Given the description of an element on the screen output the (x, y) to click on. 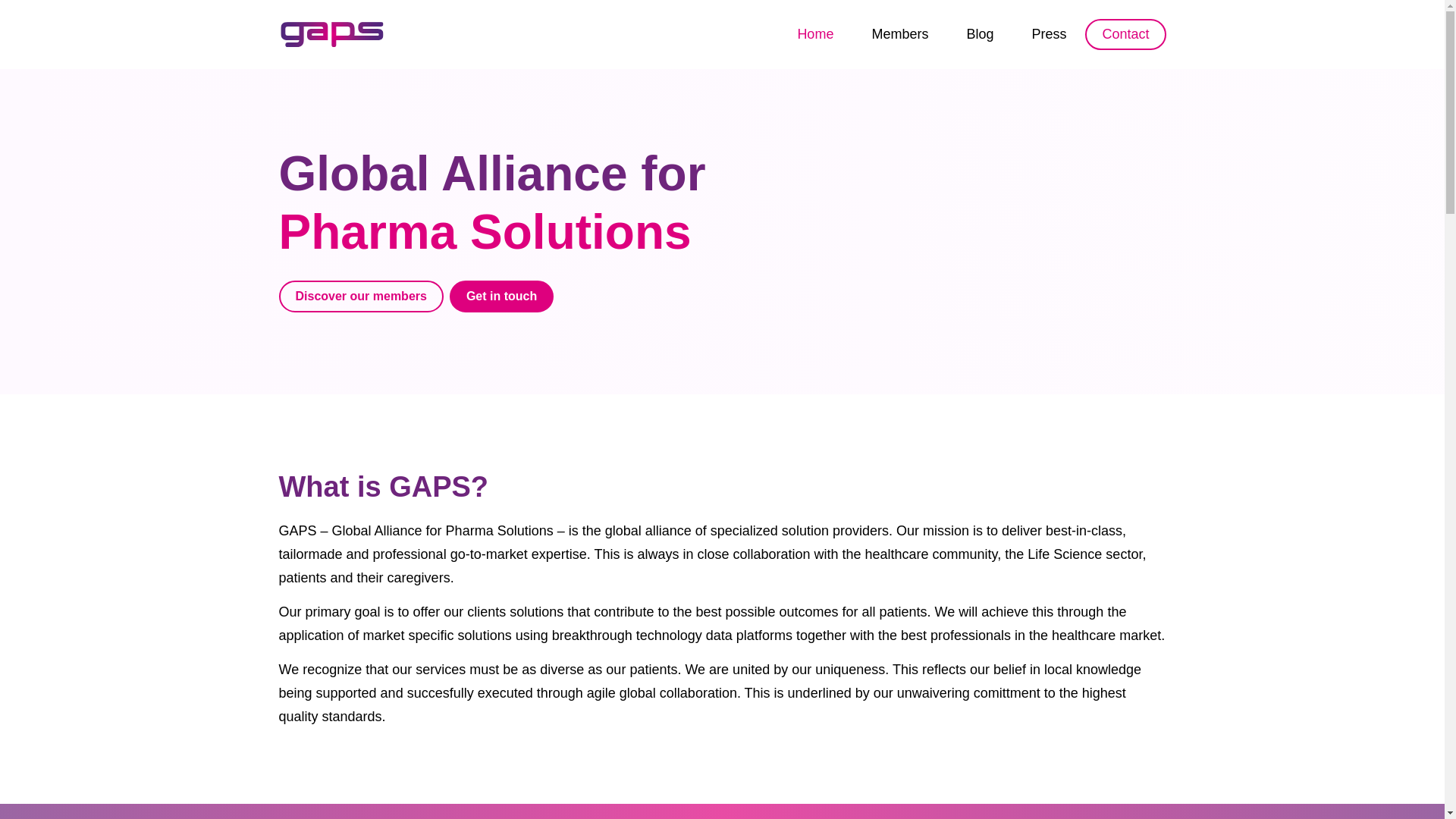
GAPS (332, 34)
Blog (979, 33)
Discover our members (361, 296)
Home (814, 33)
Discover our members (361, 296)
Contact (1125, 33)
Press (1047, 33)
Members (899, 33)
Get in touch (501, 296)
Get in touch (501, 296)
